Given the description of an element on the screen output the (x, y) to click on. 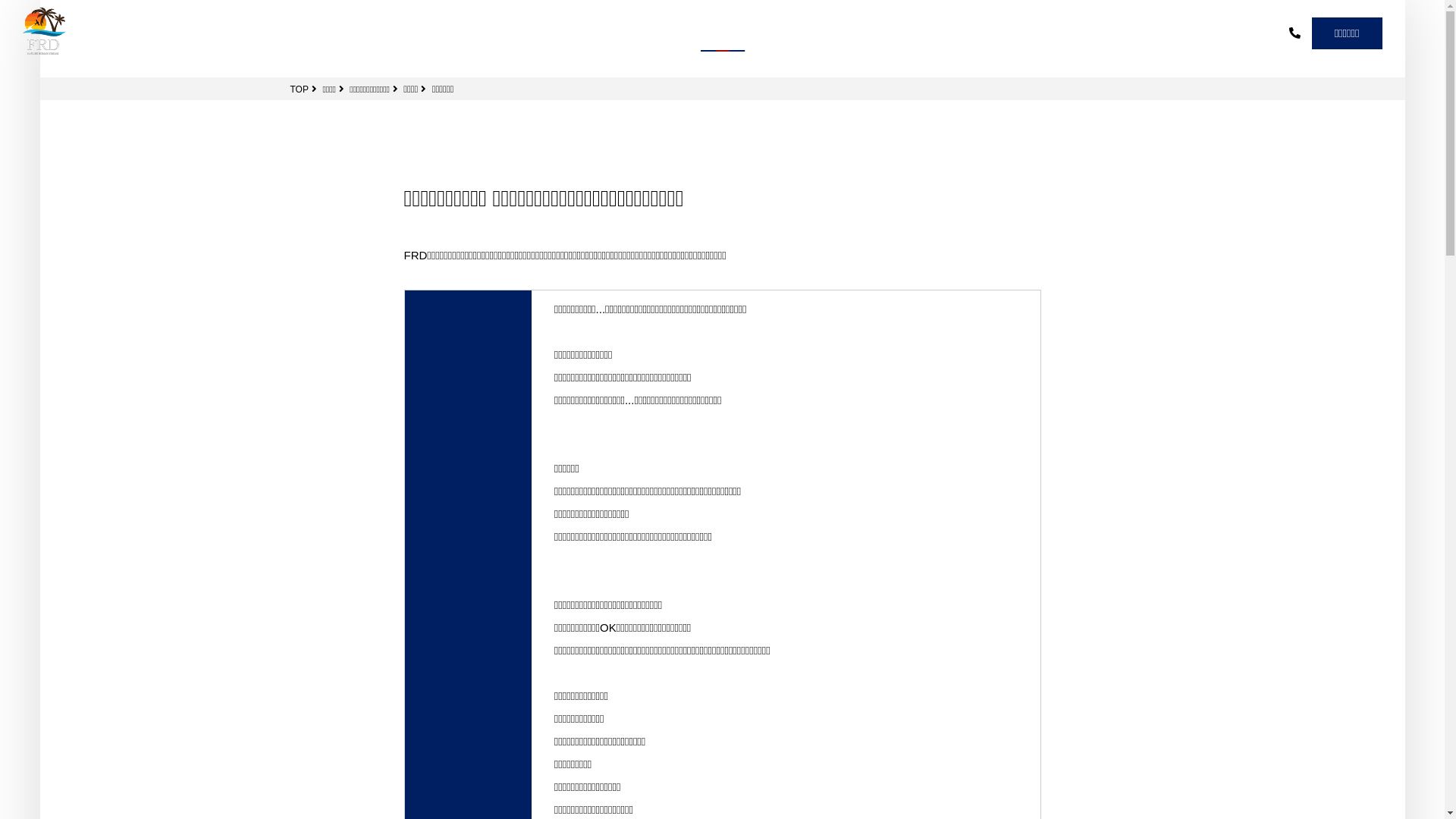
Meeting Element type: text (219, 32)
TOP Element type: text (298, 89)
